Given the description of an element on the screen output the (x, y) to click on. 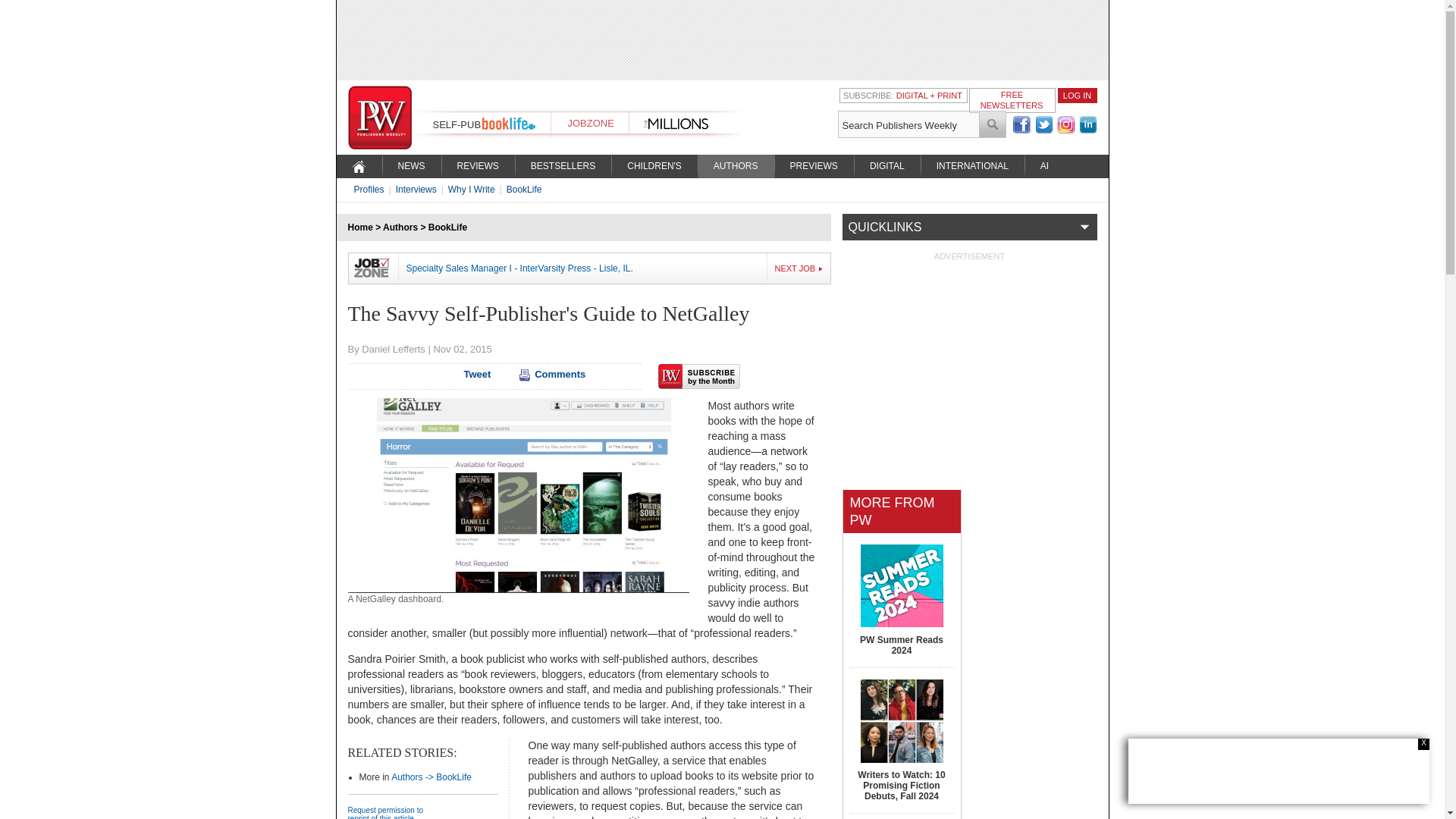
SELF-PUB (456, 124)
submit (992, 124)
Home (359, 226)
JOBZONE (589, 122)
Authors (399, 226)
LOG IN (1076, 94)
Search Publishers Weekly (907, 124)
BookLife (447, 226)
Specialty Sales Manager I - InterVarsity Press - Lisle, IL (518, 267)
FREE NEWSLETTERS (1011, 99)
